Given the description of an element on the screen output the (x, y) to click on. 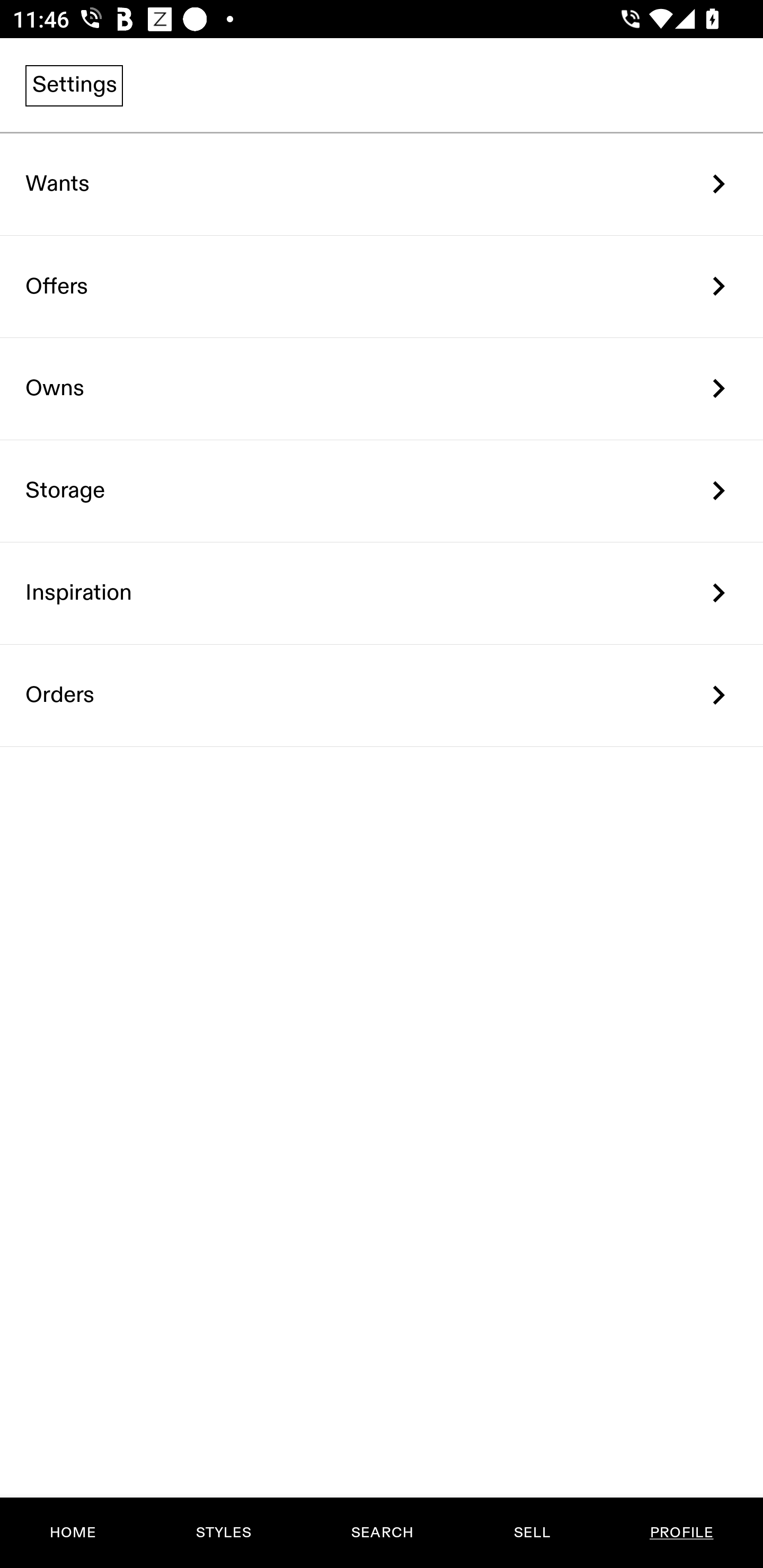
Settings (73, 85)
Wants (381, 184)
Offers (381, 286)
Owns (381, 388)
Storage (381, 491)
Inspiration (381, 593)
Orders (381, 695)
HOME (72, 1532)
STYLES (222, 1532)
SEARCH (381, 1532)
SELL (531, 1532)
PROFILE (681, 1532)
